Given the description of an element on the screen output the (x, y) to click on. 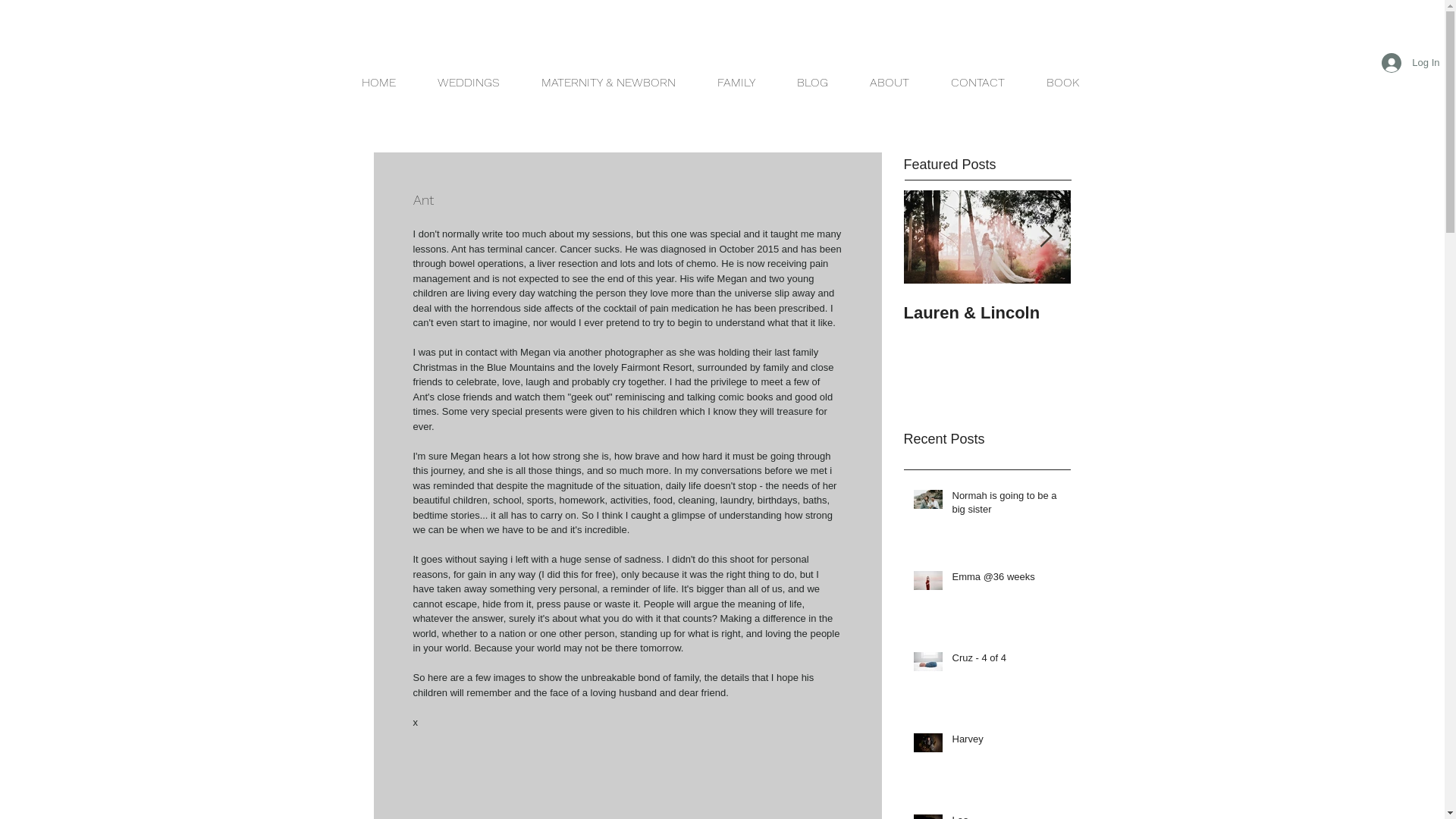
CONTACT Element type: text (979, 82)
Cruz - 4 of 4 Element type: text (1006, 661)
FAMILY Element type: text (743, 82)
Alex & Matt Element type: text (1153, 313)
WEDDINGS Element type: text (467, 82)
HOME Element type: text (378, 82)
Harvey Element type: text (1006, 742)
Normah is going to be a big sister Element type: text (1006, 505)
Log In Element type: text (1410, 62)
MATERNITY & NEWBORN Element type: text (612, 82)
BLOG Element type: text (819, 82)
Post not marked as liked Element type: text (835, 368)
Emma @36 weeks Element type: text (1006, 579)
Lauren & Lincoln Element type: text (986, 313)
ABOUT Element type: text (892, 82)
BOOK Element type: text (1064, 82)
